Given the description of an element on the screen output the (x, y) to click on. 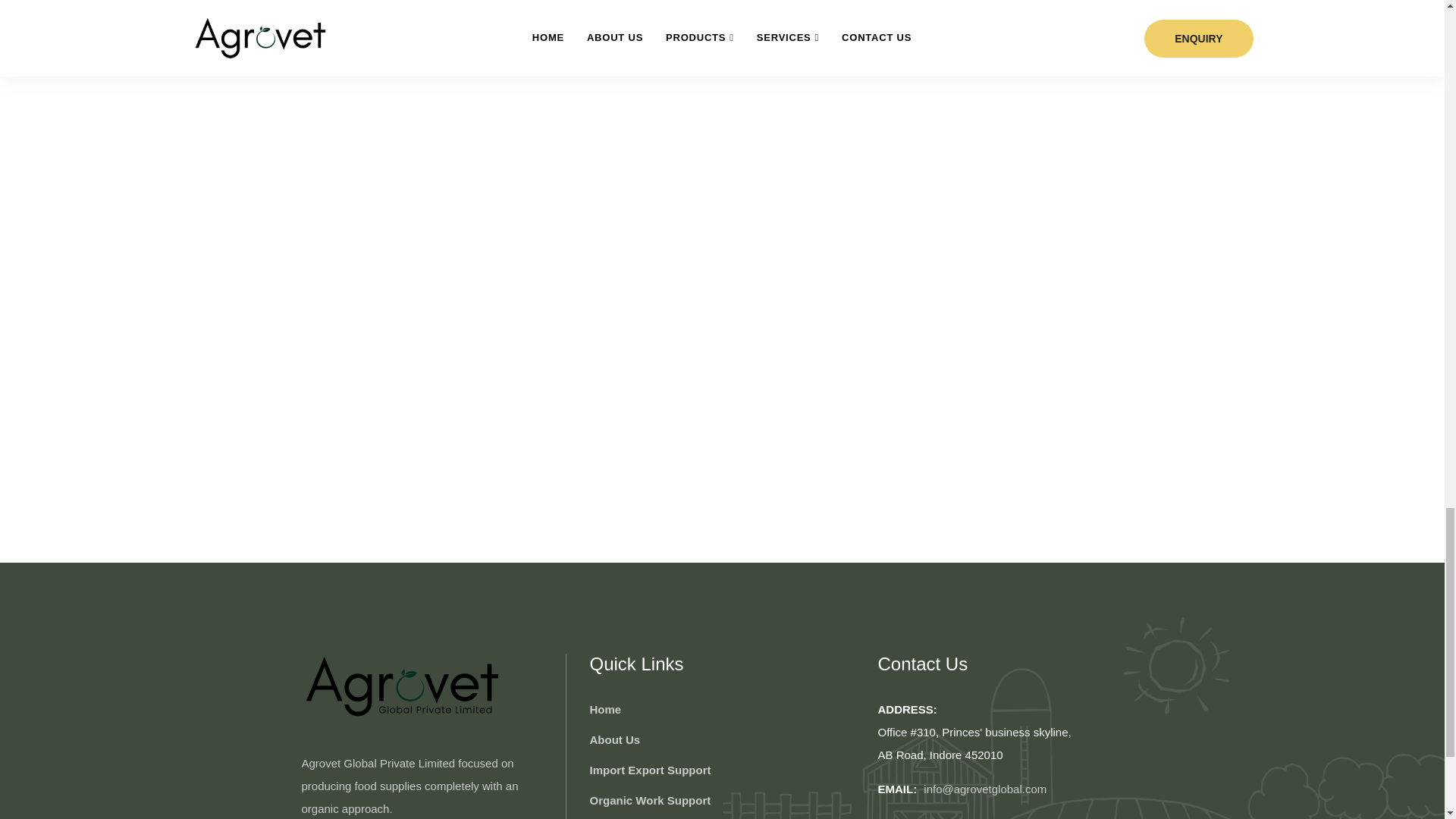
Import Export Support (649, 770)
About Us (614, 739)
Home (605, 709)
Organic Work Support (649, 800)
